Given the description of an element on the screen output the (x, y) to click on. 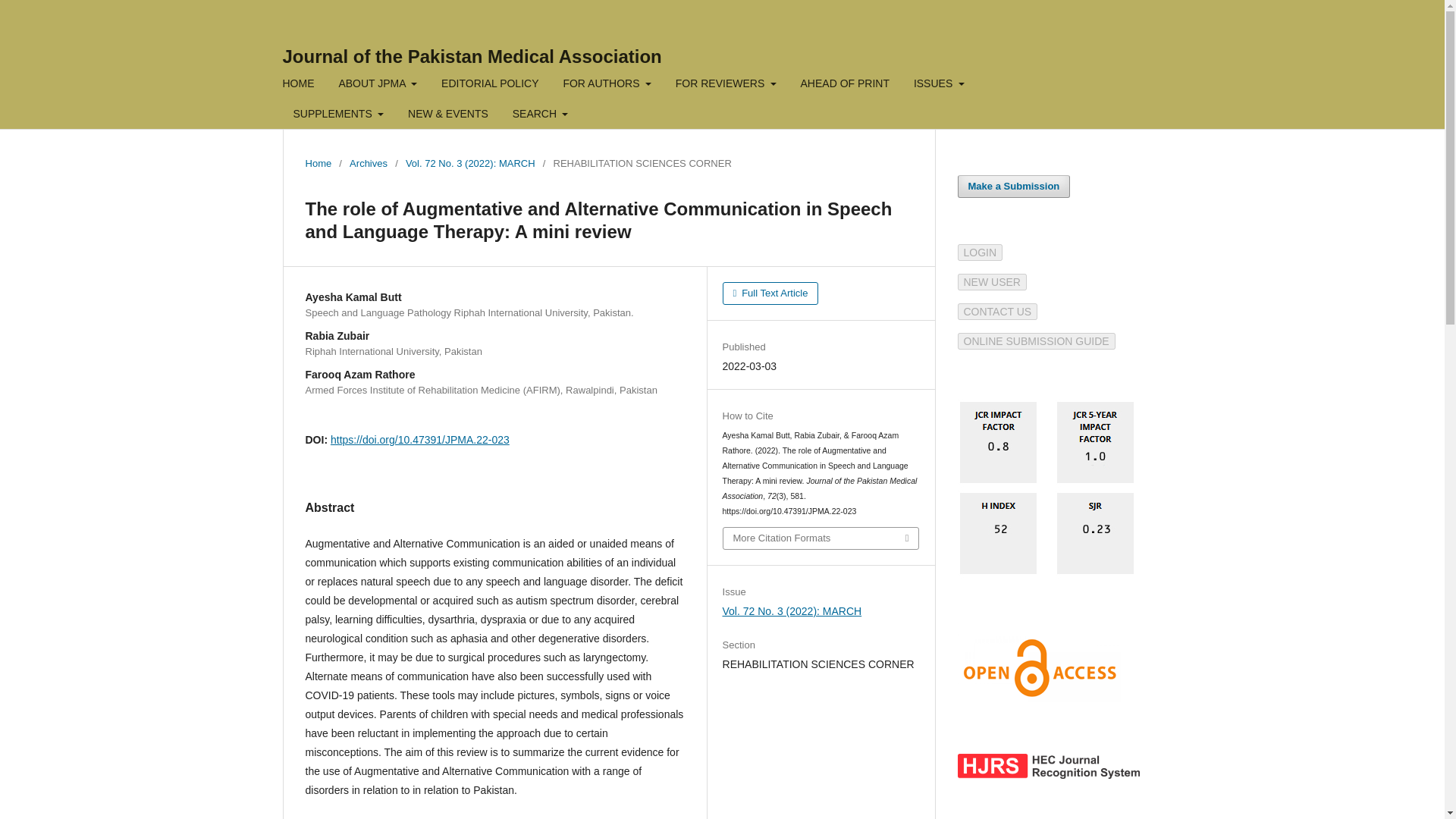
SUPPLEMENTS (339, 115)
Contect Us (996, 311)
New User (991, 282)
LOGIN (979, 252)
AHEAD OF PRINT (844, 85)
ONLINE SUBMISSION GUIDE (1035, 340)
Journal of the Pakistan Medical Association (471, 56)
FOR REVIEWERS (725, 85)
HOME (299, 85)
FOR AUTHORS (606, 85)
